Given the description of an element on the screen output the (x, y) to click on. 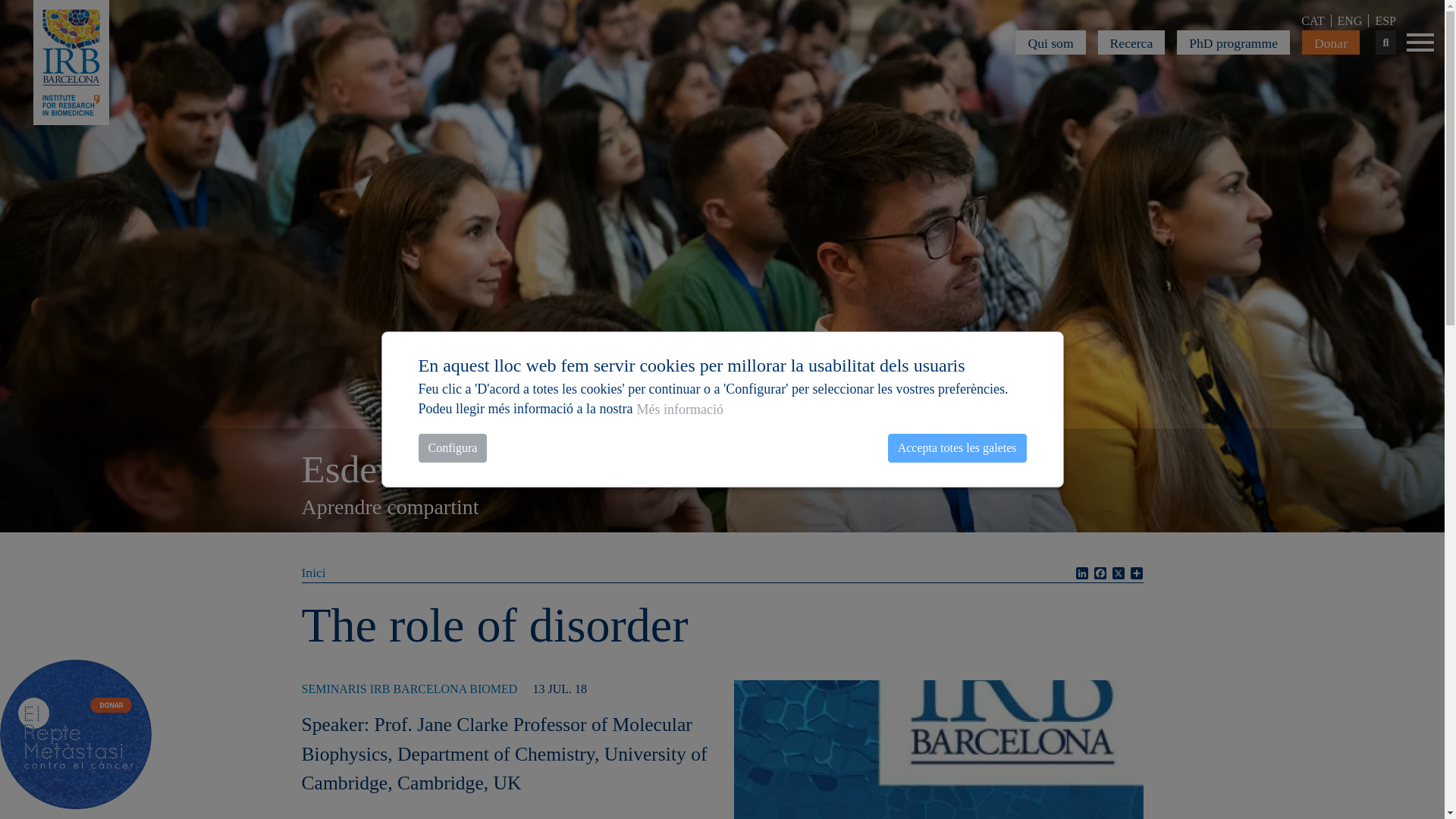
SEMINARIS IRB BARCELONA BIOMED (409, 688)
Inici (313, 572)
LinkedIn (1080, 572)
Donar (1330, 42)
Search (1385, 42)
Search icon (1385, 41)
ESP (1385, 20)
plenary-seminar.jpg (937, 793)
PhD programme (1233, 42)
CAT (1312, 20)
Qui som (1049, 42)
X (1117, 572)
ENG (1349, 20)
Recerca (1131, 42)
Facebook (1099, 572)
